Given the description of an element on the screen output the (x, y) to click on. 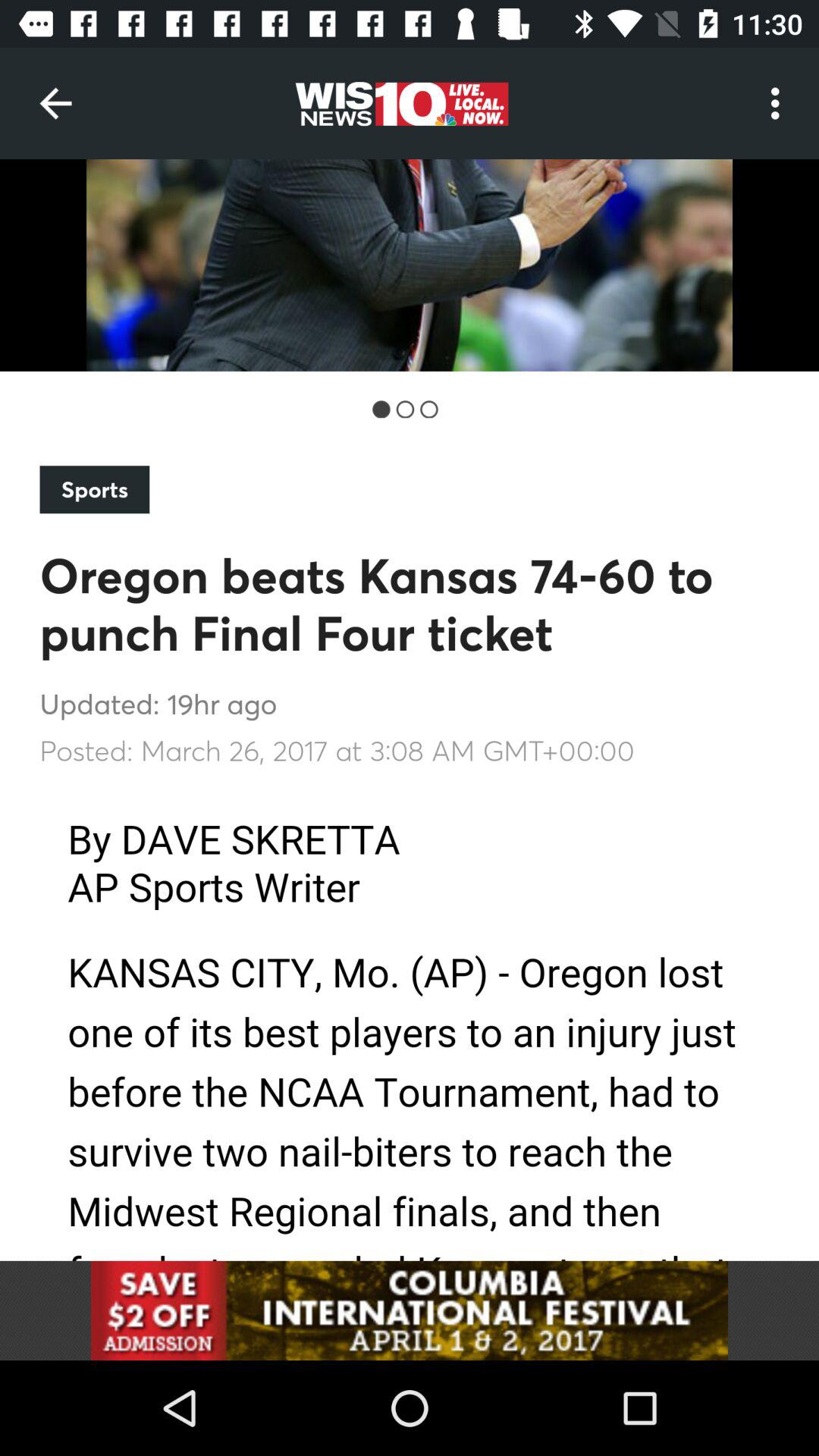
advertisement (409, 1310)
